Given the description of an element on the screen output the (x, y) to click on. 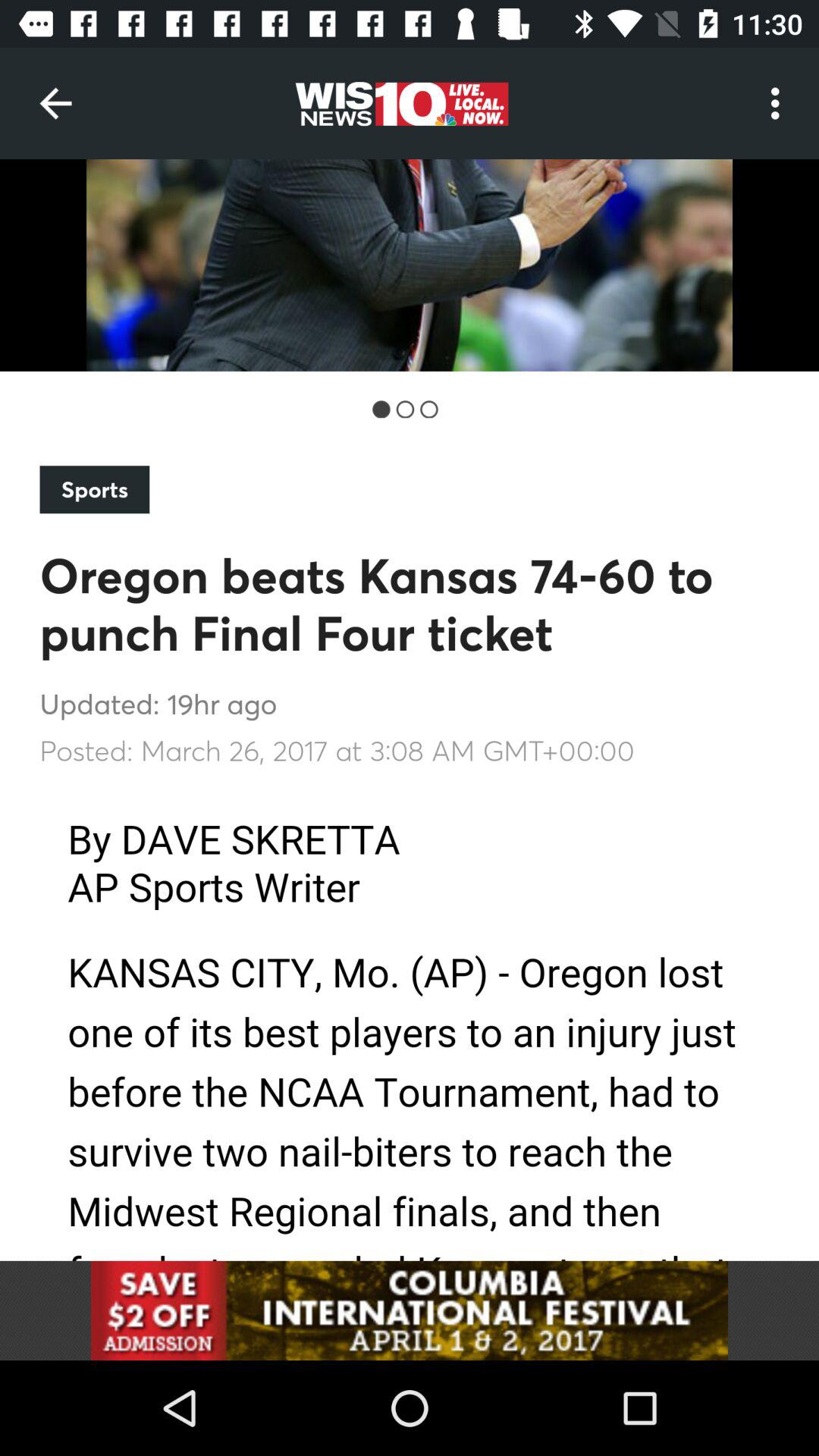
advertisement (409, 1310)
